Given the description of an element on the screen output the (x, y) to click on. 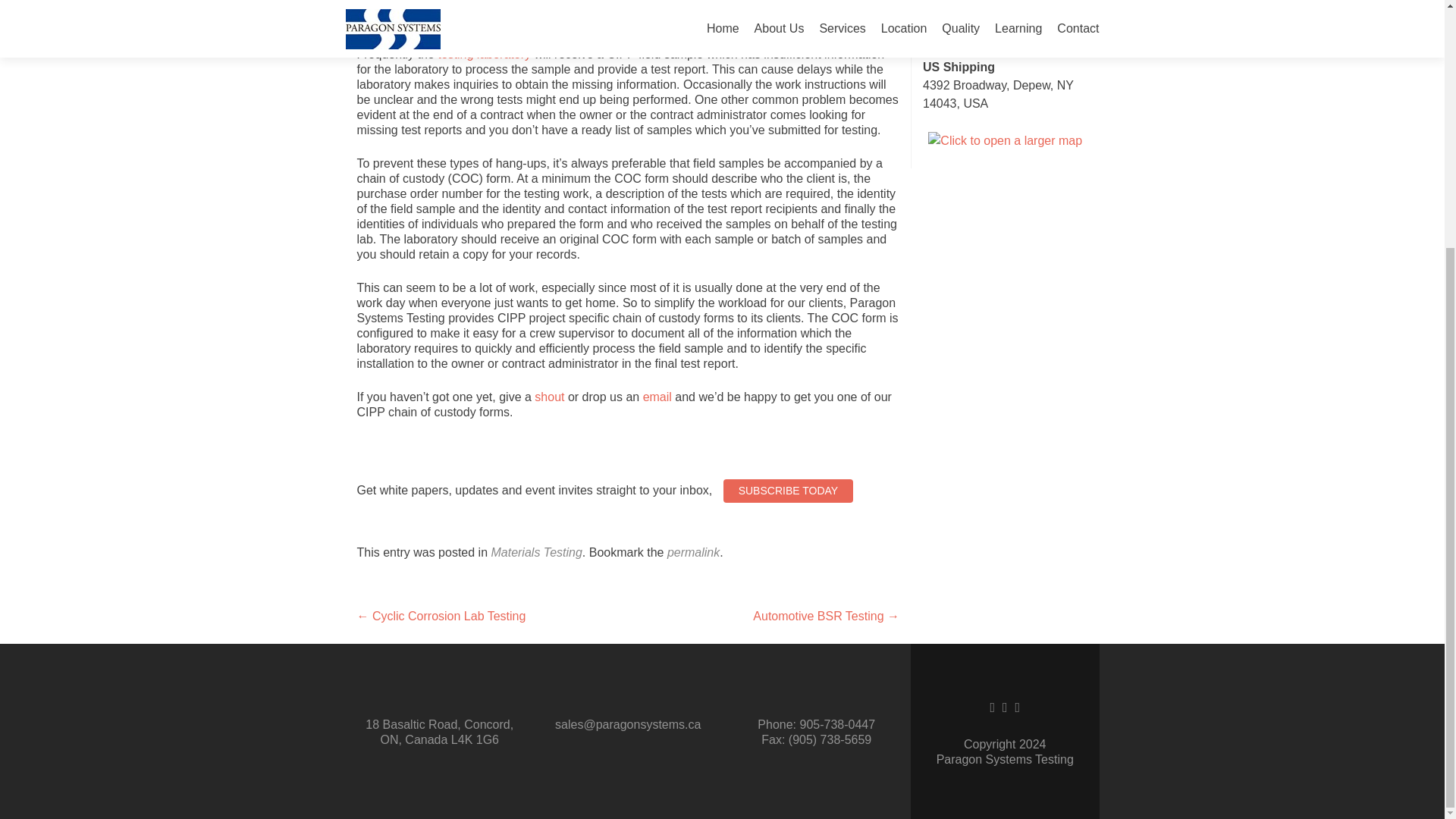
Click to open a larger map (1004, 140)
permalink (692, 552)
email (657, 396)
SUBSCRIBE TODAY (788, 490)
shout (549, 396)
Click to open a larger map (1004, 31)
Materials Testing (535, 552)
testing laboratory (484, 53)
